Given the description of an element on the screen output the (x, y) to click on. 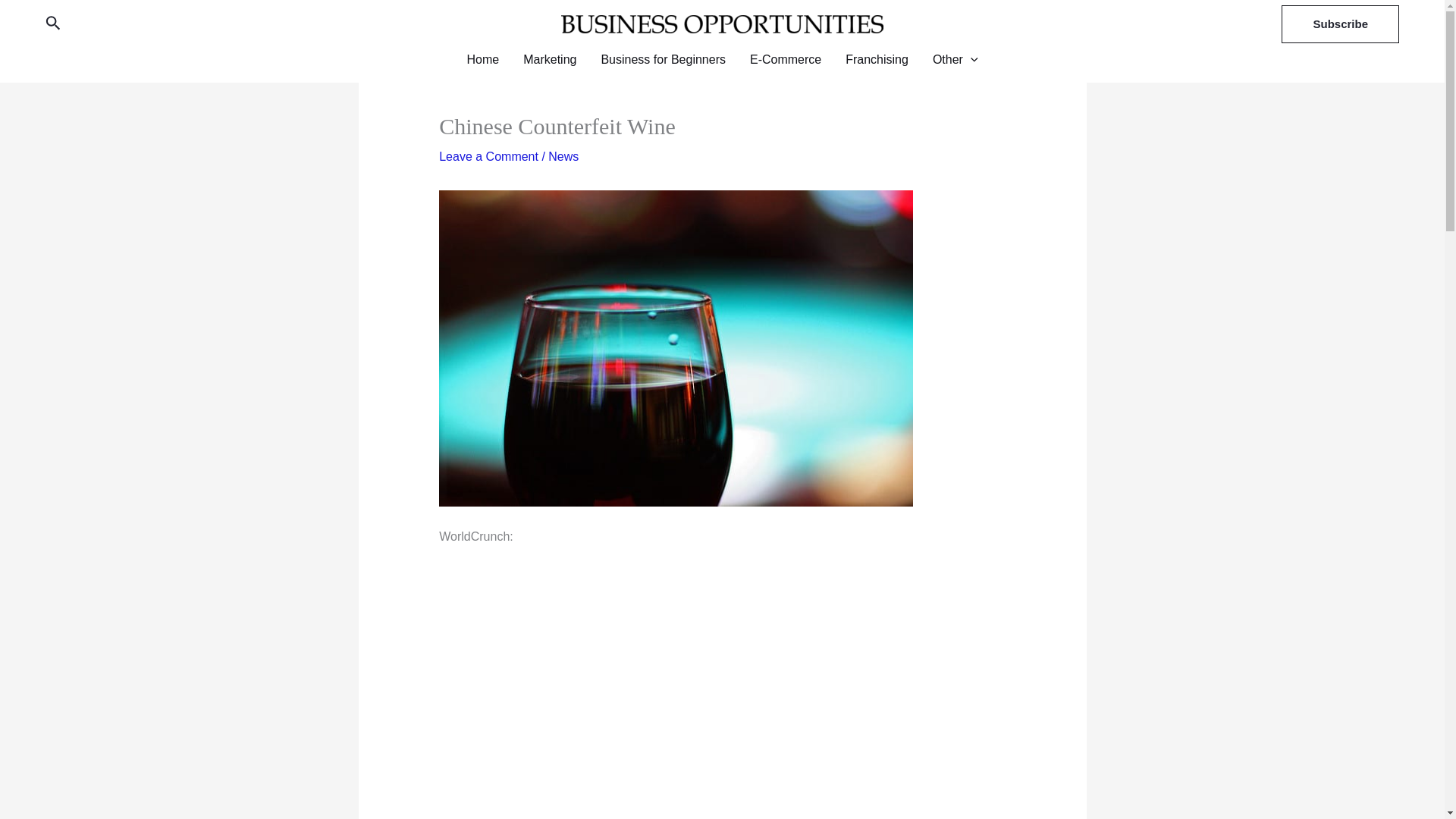
Home (482, 59)
Marketing (549, 59)
Other (955, 59)
Subscribe (1340, 23)
Franchising (876, 59)
Leave a Comment (488, 155)
Business for Beginners (663, 59)
News (563, 155)
E-Commerce (785, 59)
